Given the description of an element on the screen output the (x, y) to click on. 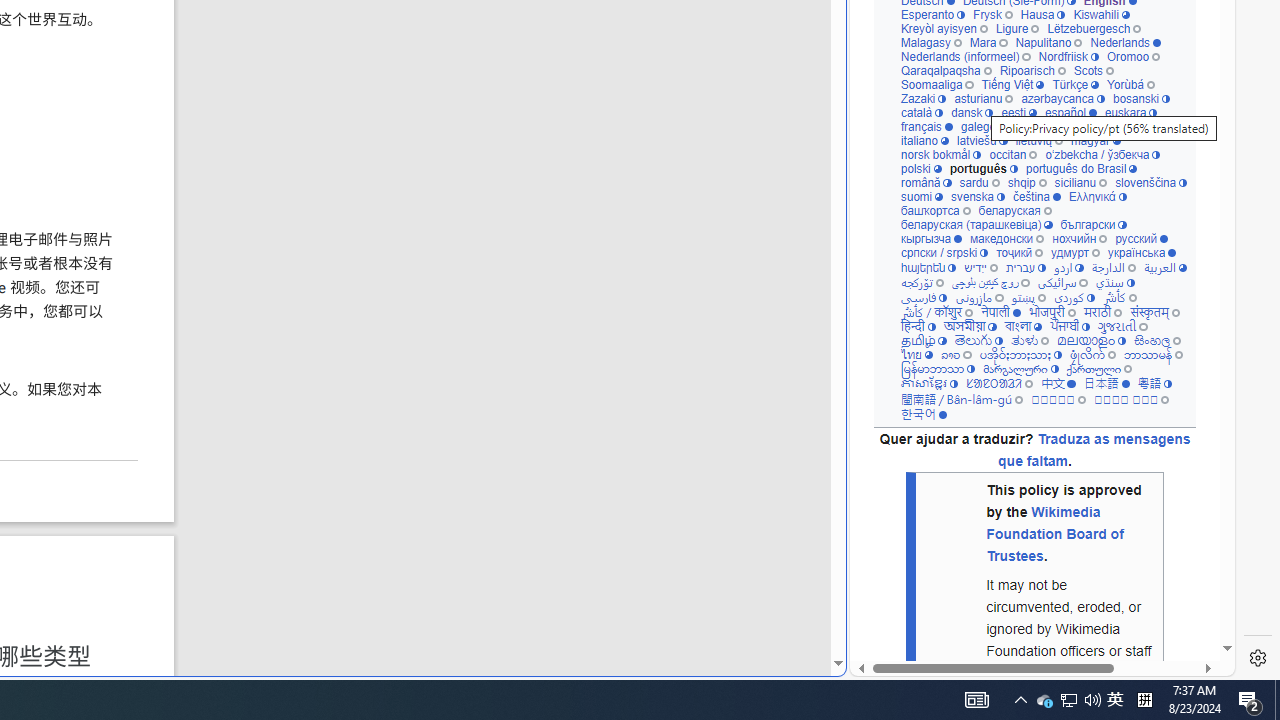
Napulitano (1048, 42)
Oromoo (1132, 56)
asturianu (983, 97)
suomi (921, 195)
Zazaki (923, 97)
hrvatski (1040, 125)
shqip (1027, 182)
